Given the description of an element on the screen output the (x, y) to click on. 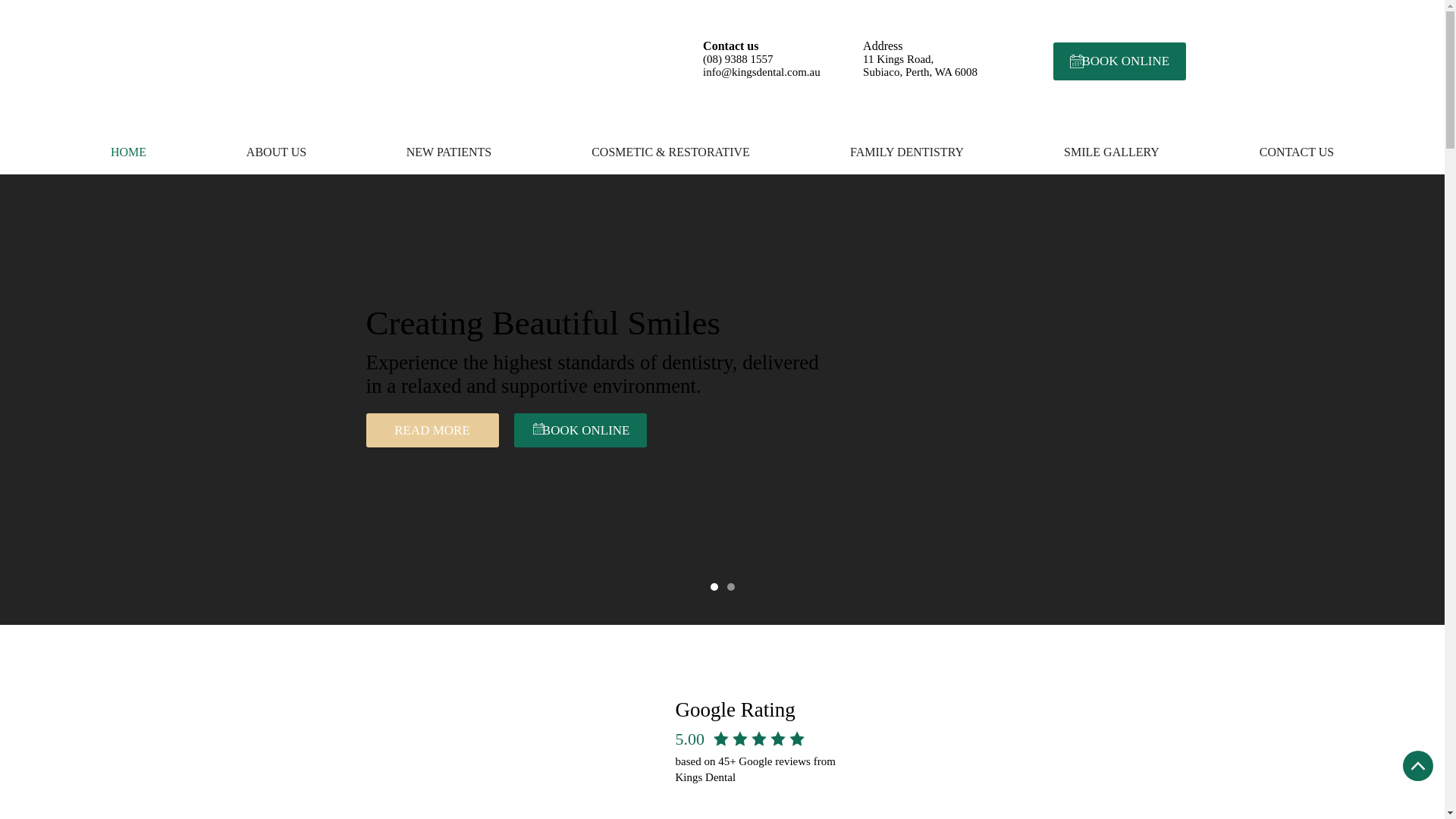
CONTACT US Element type: text (1296, 152)
NEW PATIENTS Element type: text (448, 152)
ABOUT US Element type: text (276, 152)
(08) 9388 1557 Element type: text (737, 59)
info@kingsdental.com.au Element type: text (761, 71)
COSMETIC & RESTORATIVE Element type: text (670, 152)
BOOK ONLINE Element type: text (580, 430)
HOME Element type: text (128, 152)
Back To Top Element type: hover (1417, 765)
BOOK ONLINE Element type: text (1119, 61)
SMILE GALLERY Element type: text (1111, 152)
FAMILY DENTISTRY Element type: text (906, 152)
READ MORE Element type: text (431, 430)
